Given the description of an element on the screen output the (x, y) to click on. 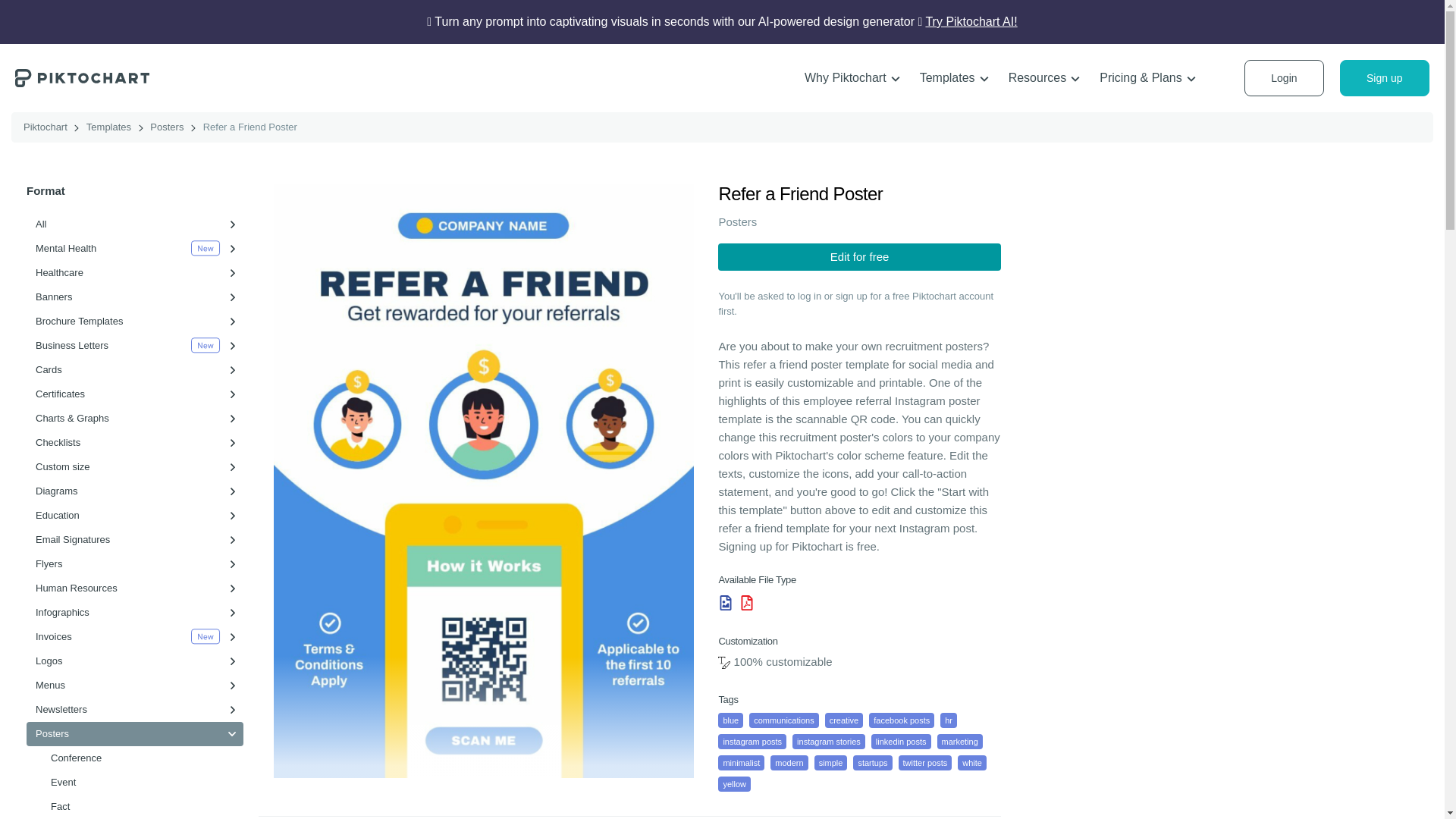
Try Piktochart AI! (970, 21)
Piktochart (81, 77)
Why Piktochart (852, 78)
Why Piktochart (852, 78)
